Given the description of an element on the screen output the (x, y) to click on. 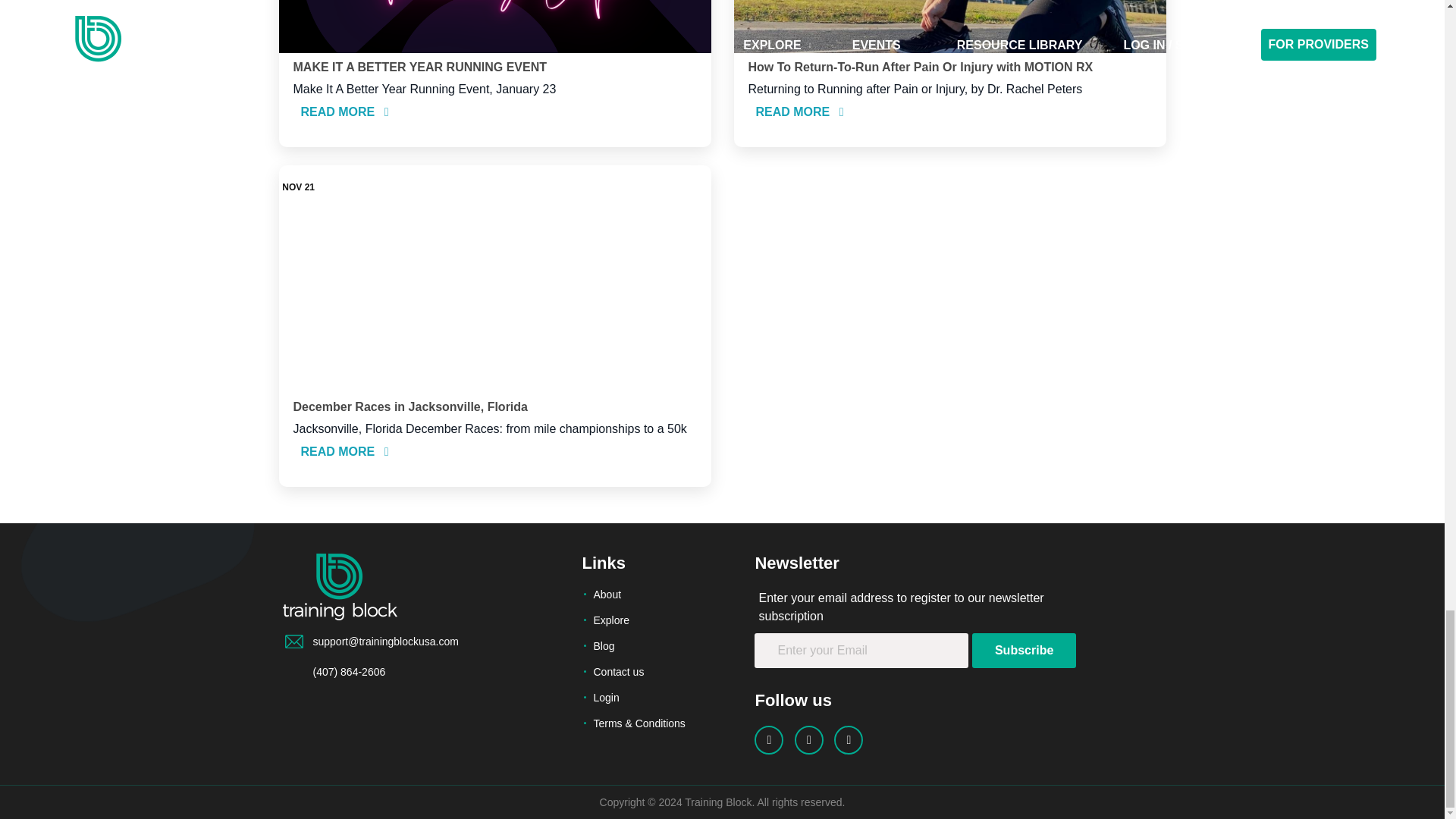
Facebook (768, 739)
How To Return-To-Run After Pain Or Injury with MOTION RX (920, 66)
MAKE IT A BETTER YEAR RUNNING EVENT (419, 66)
Instagram (848, 739)
Subscribe (1023, 650)
Linkedin (809, 739)
READ MORE (344, 111)
